Given the description of an element on the screen output the (x, y) to click on. 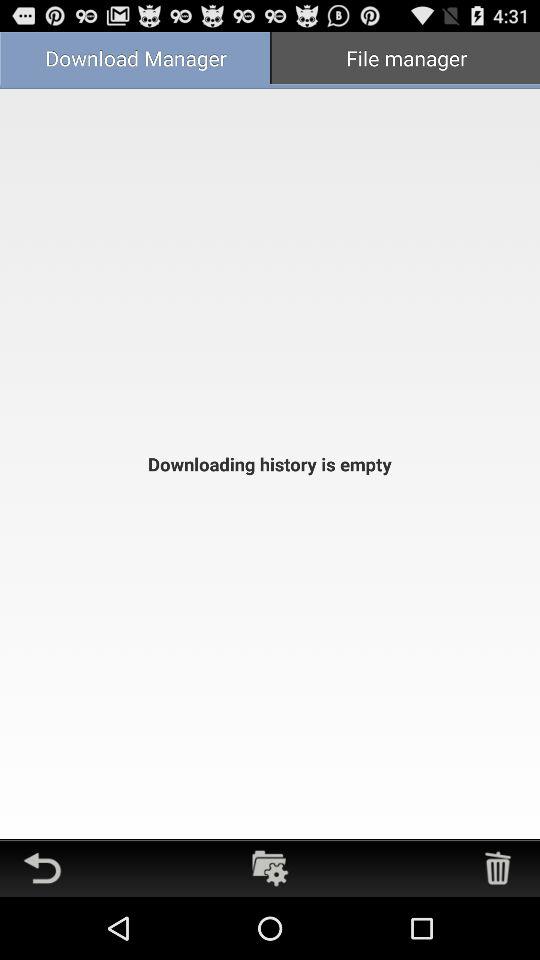
tap app above the downloading history is app (405, 60)
